Given the description of an element on the screen output the (x, y) to click on. 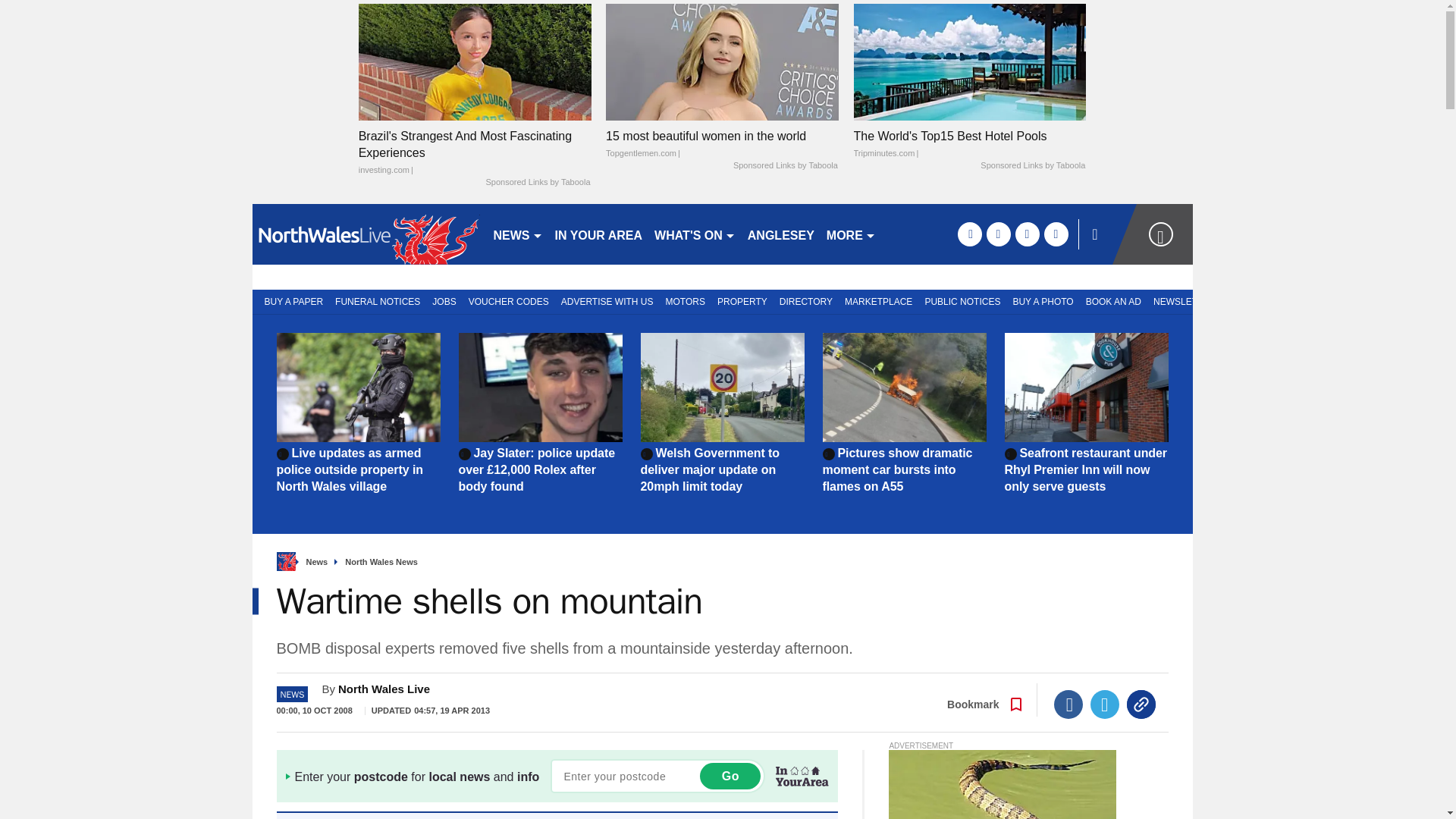
Sponsored Links by Taboola (785, 165)
The World's Top15 Best Hotel Pools (969, 144)
Sponsored Links by Taboola (1031, 165)
facebook (968, 233)
Go (730, 775)
pinterest (1026, 233)
Twitter (1104, 704)
MORE (851, 233)
twitter (997, 233)
Brazil's Strangest And Most Fascinating Experiences (474, 152)
Sponsored Links by Taboola (536, 182)
northwales (365, 233)
ANGLESEY (781, 233)
instagram (1055, 233)
WHAT'S ON (694, 233)
